Given the description of an element on the screen output the (x, y) to click on. 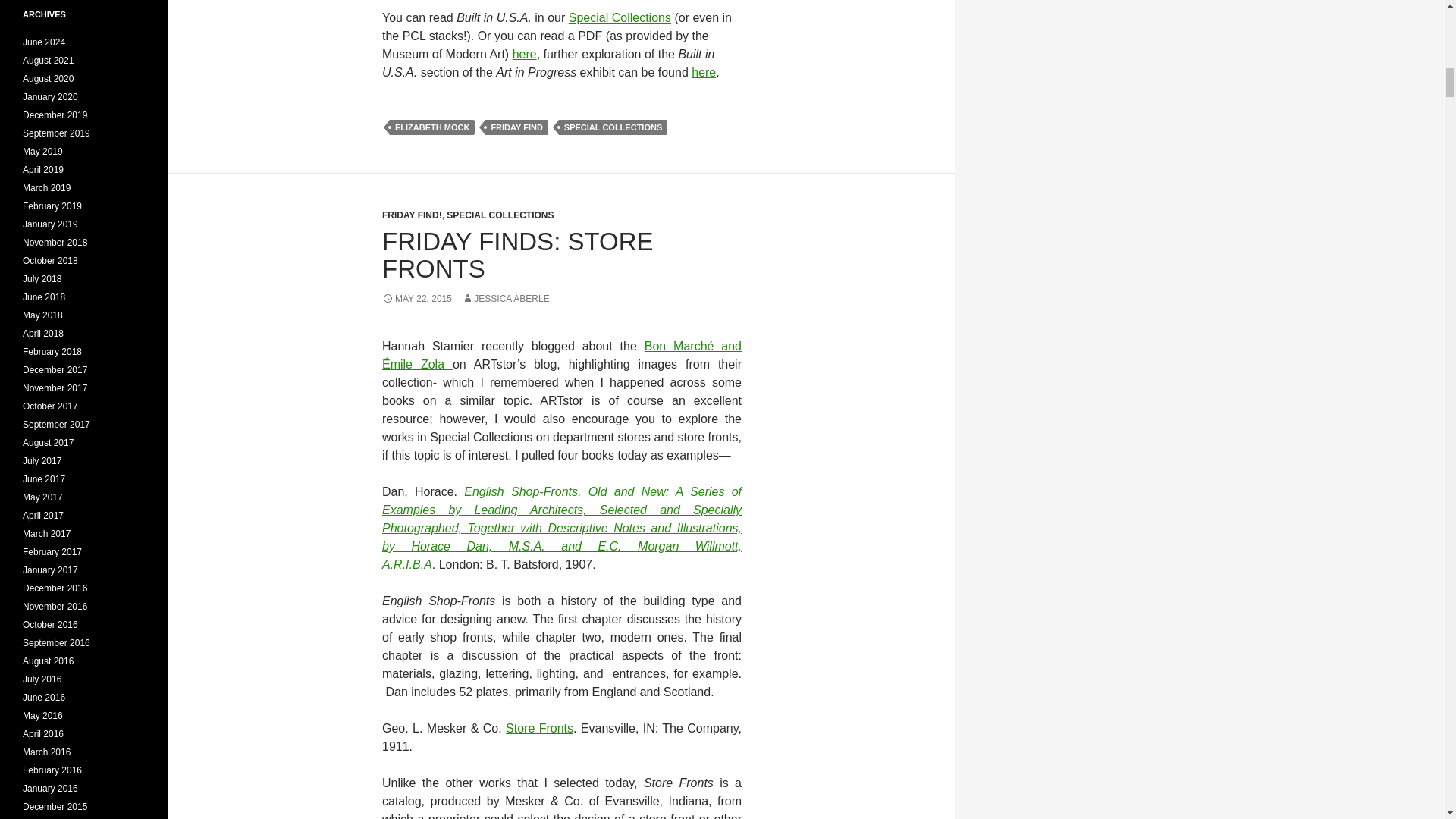
here (703, 72)
Special Collections (620, 17)
Store Fronts (539, 727)
FRIDAY FINDS: STORE FRONTS (517, 254)
JESSICA ABERLE (504, 298)
FRIDAY FIND! (411, 214)
here (524, 53)
FRIDAY FIND (515, 127)
SPECIAL COLLECTIONS (499, 214)
ELIZABETH MOCK (432, 127)
SPECIAL COLLECTIONS (612, 127)
MAY 22, 2015 (416, 298)
